Given the description of an element on the screen output the (x, y) to click on. 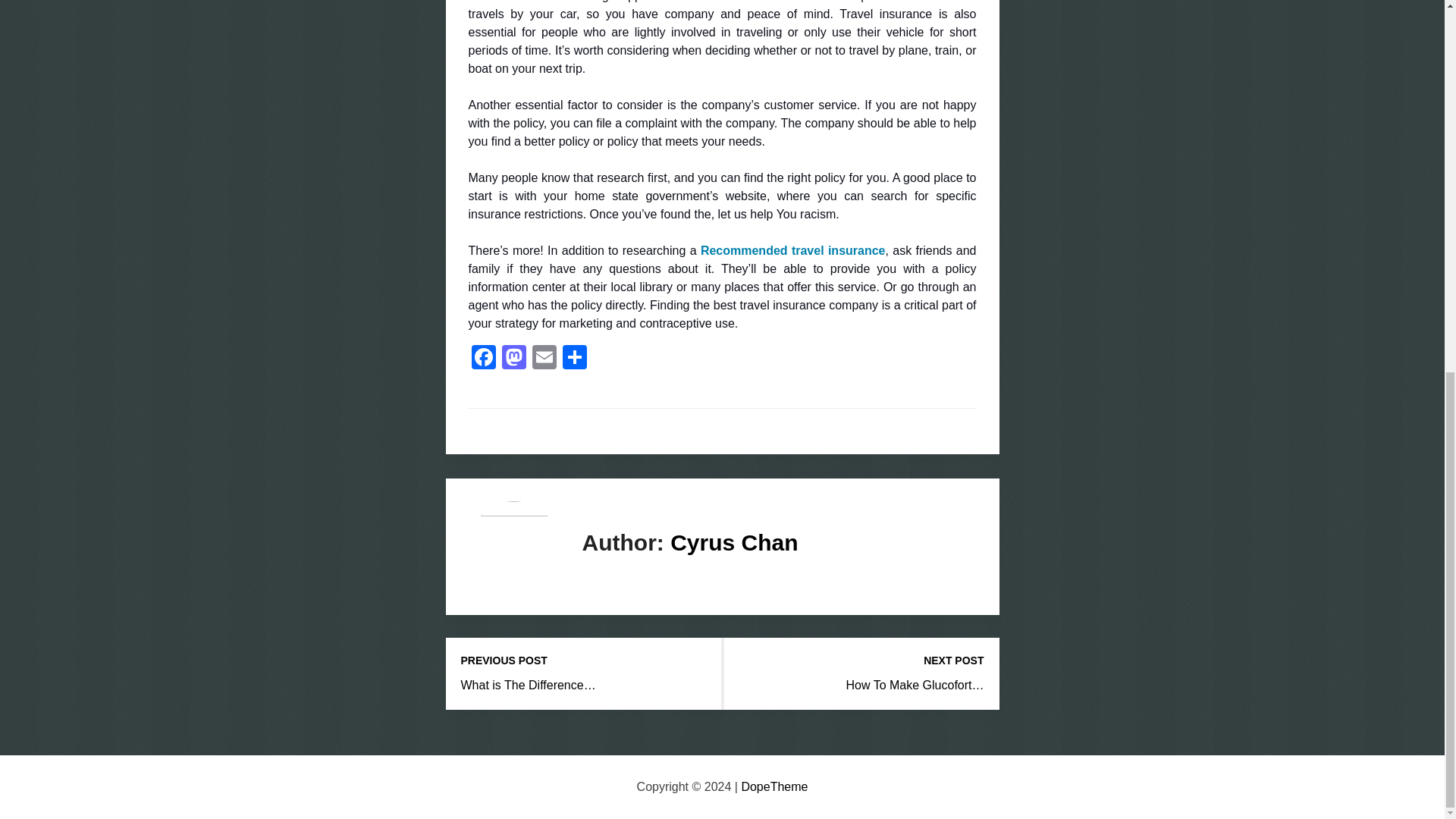
DopeTheme (774, 786)
PREVIOUS POST (583, 660)
Email (544, 358)
Email (544, 358)
Facebook (483, 358)
NEXT POST (861, 660)
Cyrus Chan (733, 542)
Mastodon (514, 358)
Mastodon (514, 358)
How To Make Glucofort natural health supplement (914, 684)
Share (574, 358)
Recommended travel insurance (792, 250)
Facebook (483, 358)
